Given the description of an element on the screen output the (x, y) to click on. 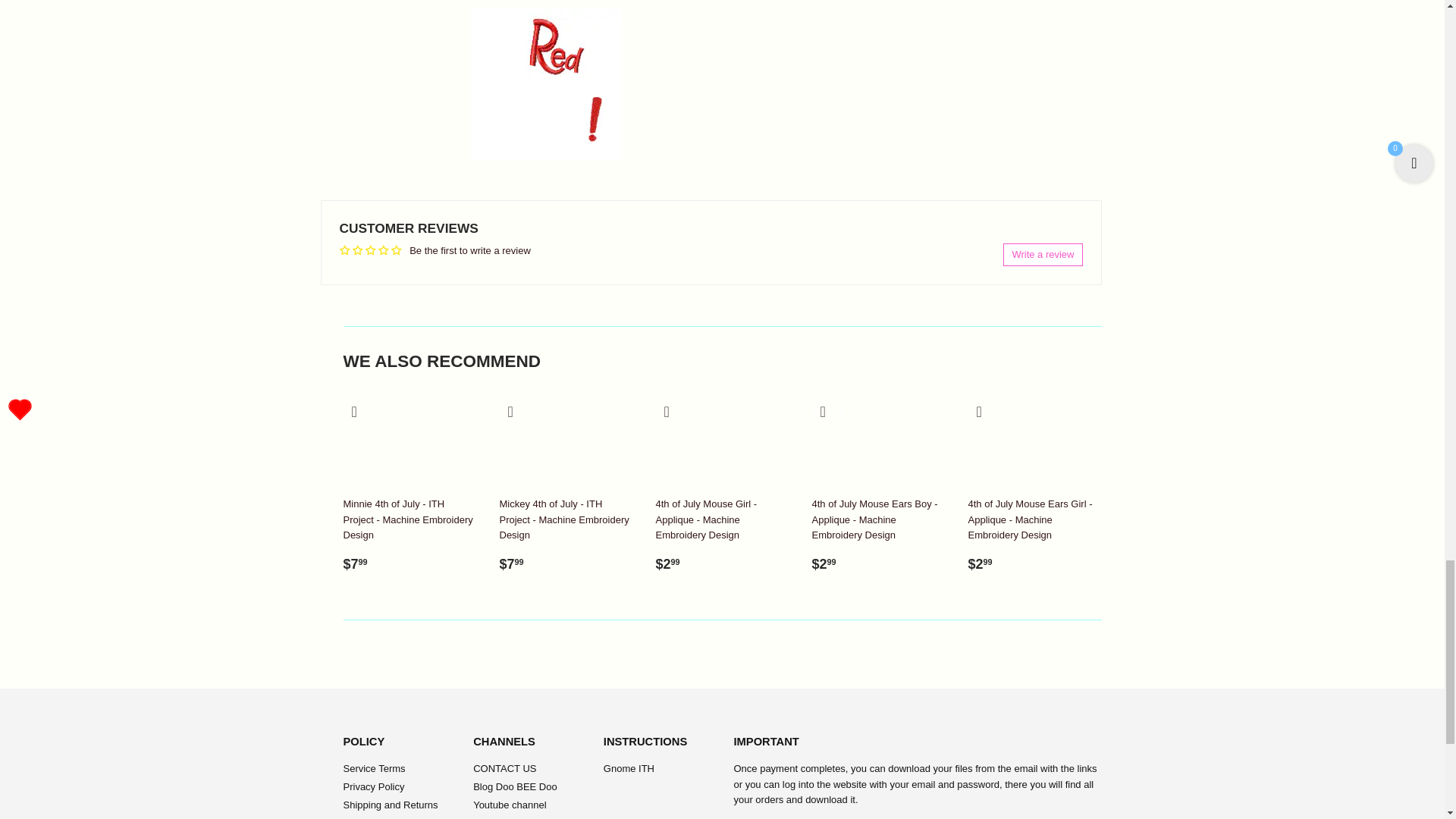
Add to cart (671, 412)
Add to cart (826, 412)
Add to cart (514, 412)
Add to cart (358, 412)
Add to cart (983, 412)
